Given the description of an element on the screen output the (x, y) to click on. 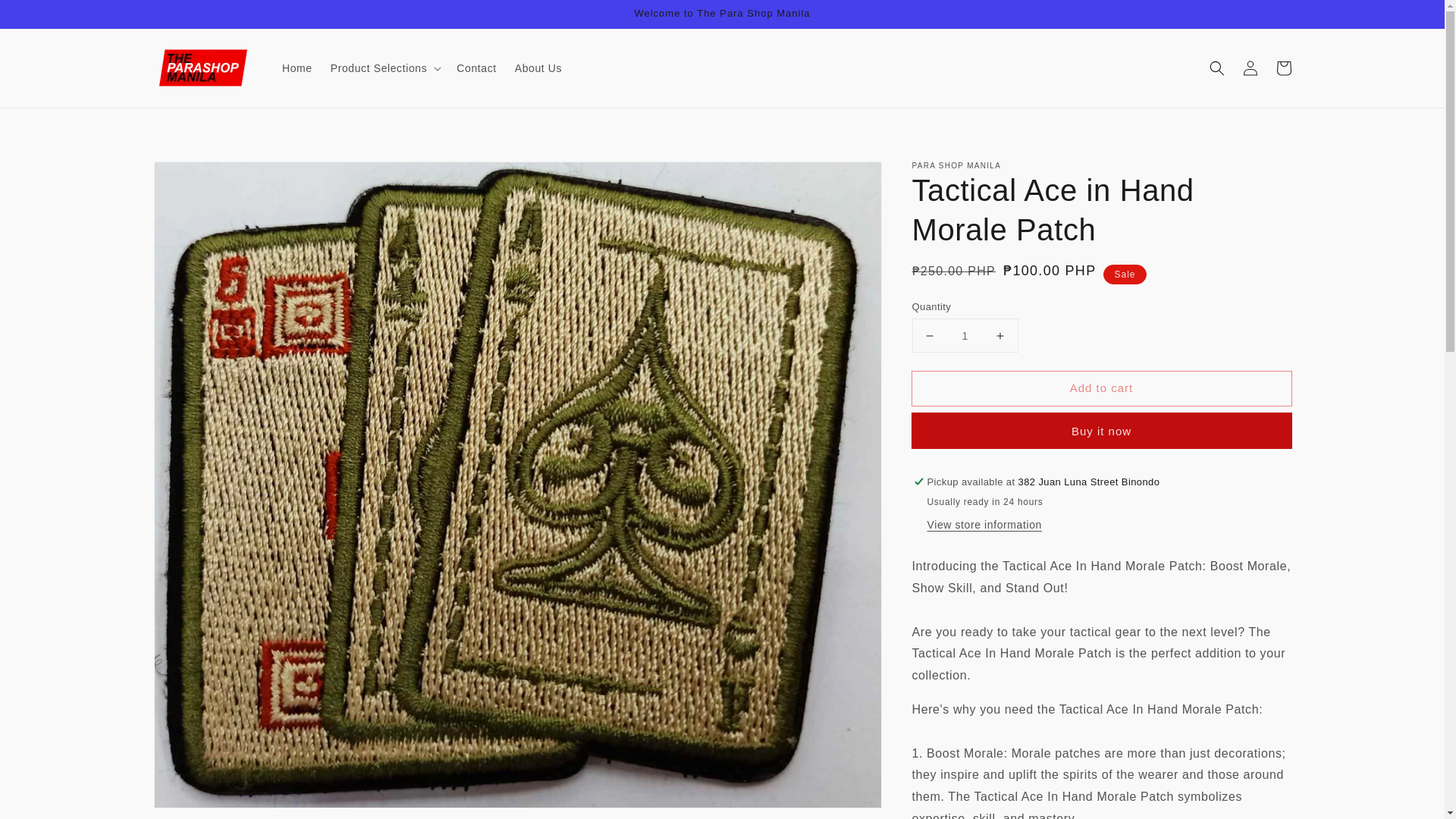
1 (964, 335)
About Us (537, 68)
Home (297, 68)
Contact (475, 68)
Skip to content (45, 16)
